Given the description of an element on the screen output the (x, y) to click on. 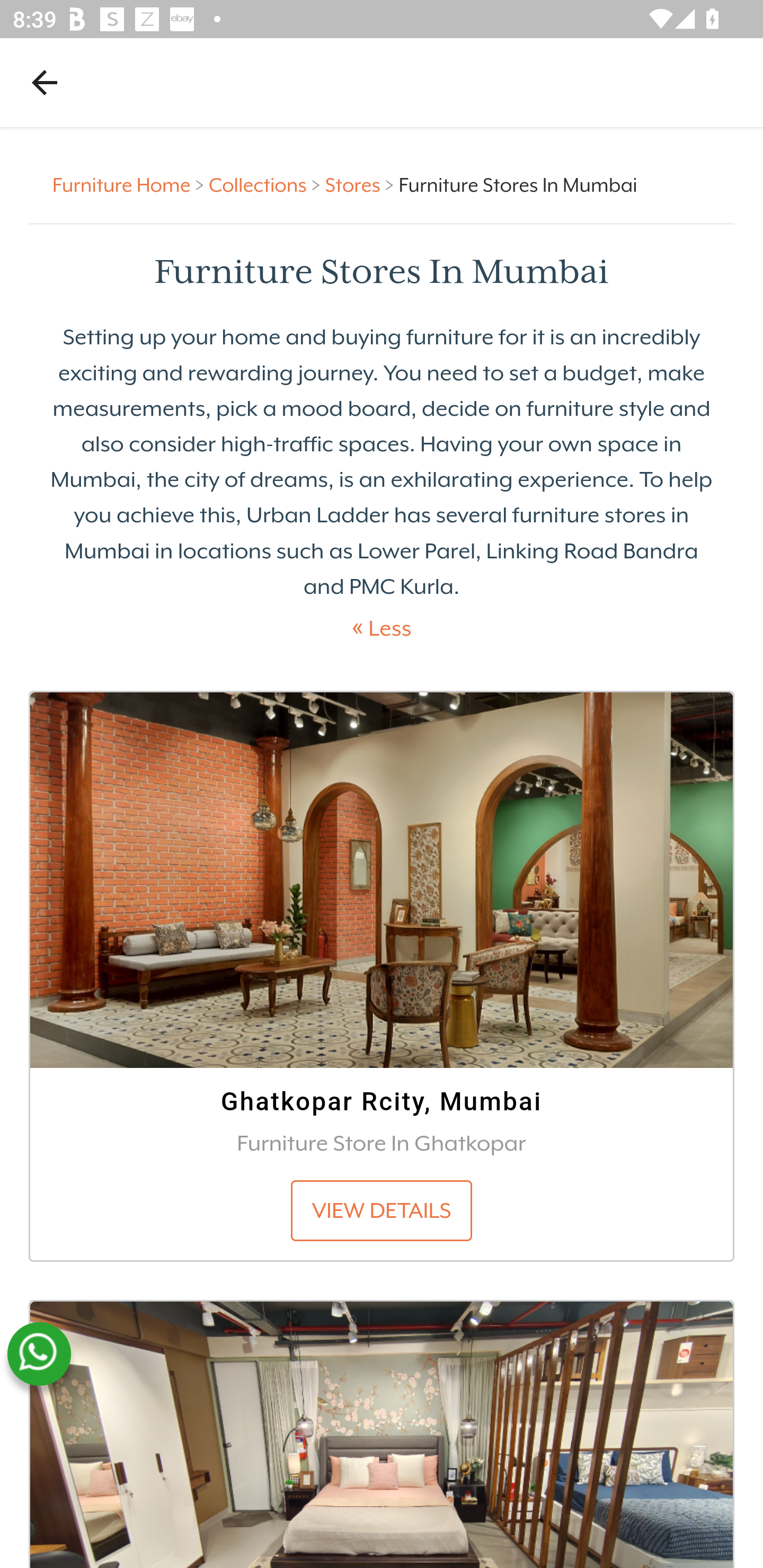
Navigate up (44, 82)
Furniture Home >  Furniture Home  >  (130, 184)
Collections >  Collections  >  (266, 184)
Stores >  Stores  >  (361, 184)
« Less (381, 627)
VIEW DETAILS (381, 1211)
whatsapp (38, 1353)
